Given the description of an element on the screen output the (x, y) to click on. 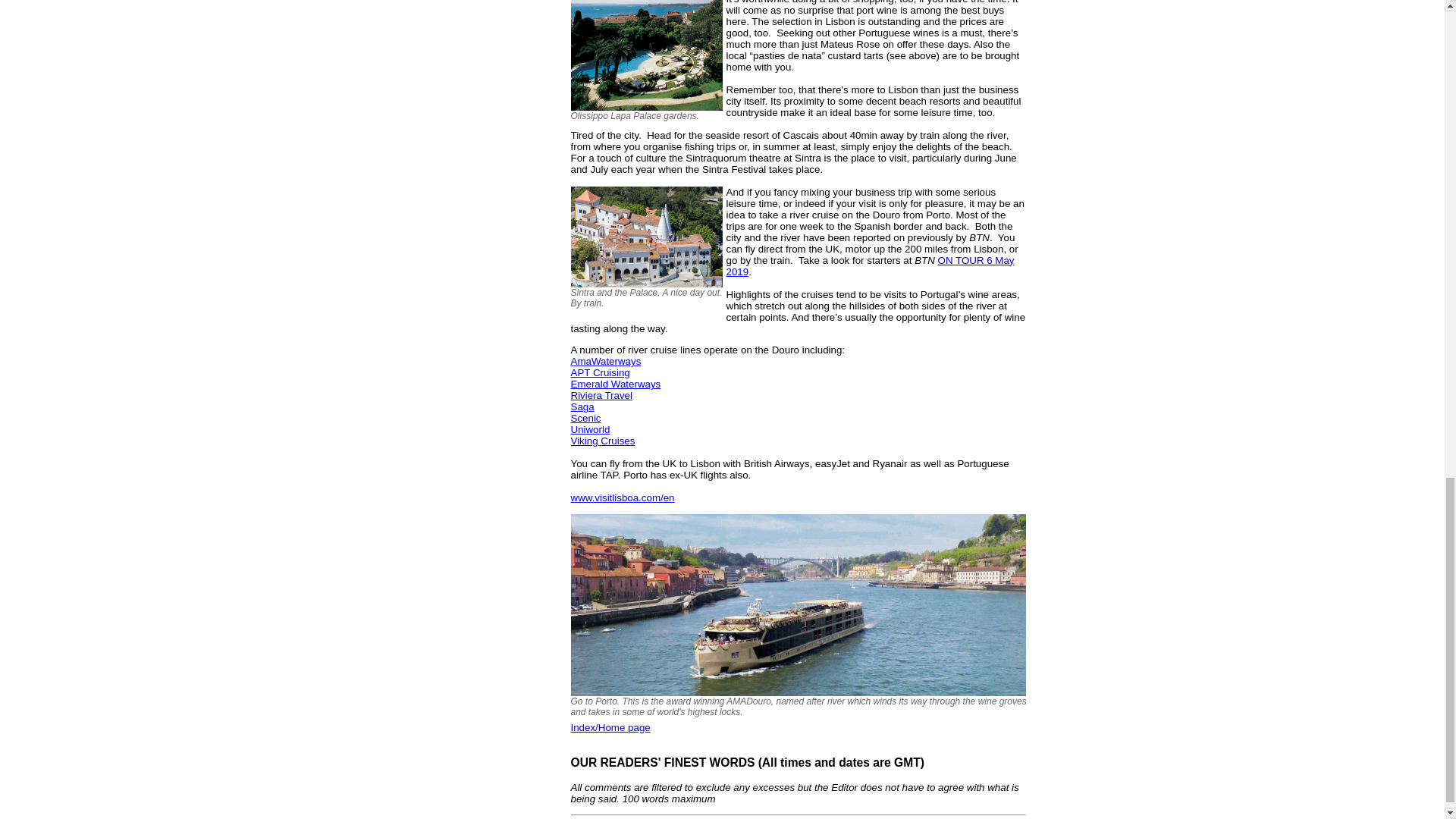
Uniworld (590, 429)
ON TOUR 6 May 2019 (870, 265)
Saga (582, 406)
Sintra and the Palace. A nice day out. By train. (647, 236)
Riviera Travel (600, 395)
Emerald Waterways (615, 383)
Viking Cruises (602, 440)
AmaWaterways (605, 360)
APT Cruising (599, 372)
Olissippo Lapa Palace gardens. (647, 55)
Scenic (584, 418)
